Given the description of an element on the screen output the (x, y) to click on. 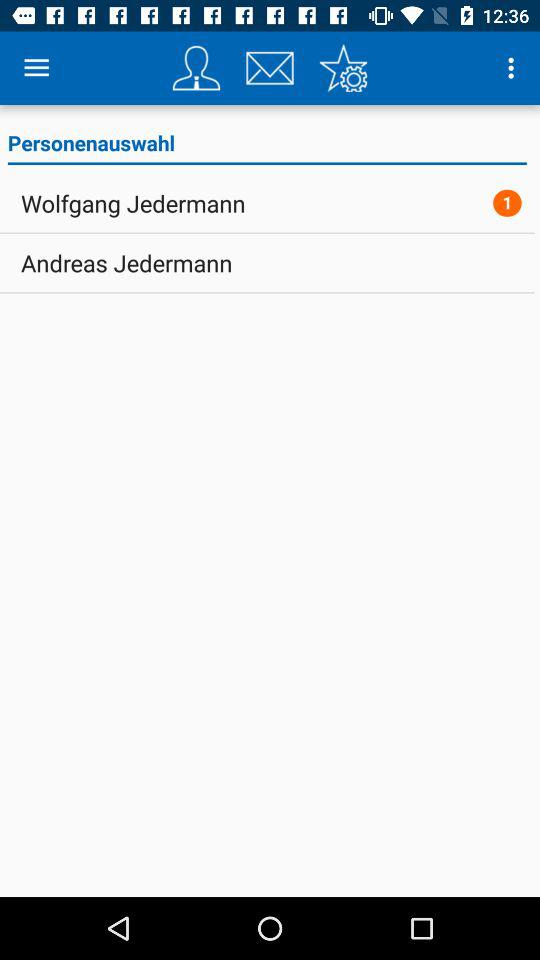
choose icon next to the  1  icon (133, 203)
